Given the description of an element on the screen output the (x, y) to click on. 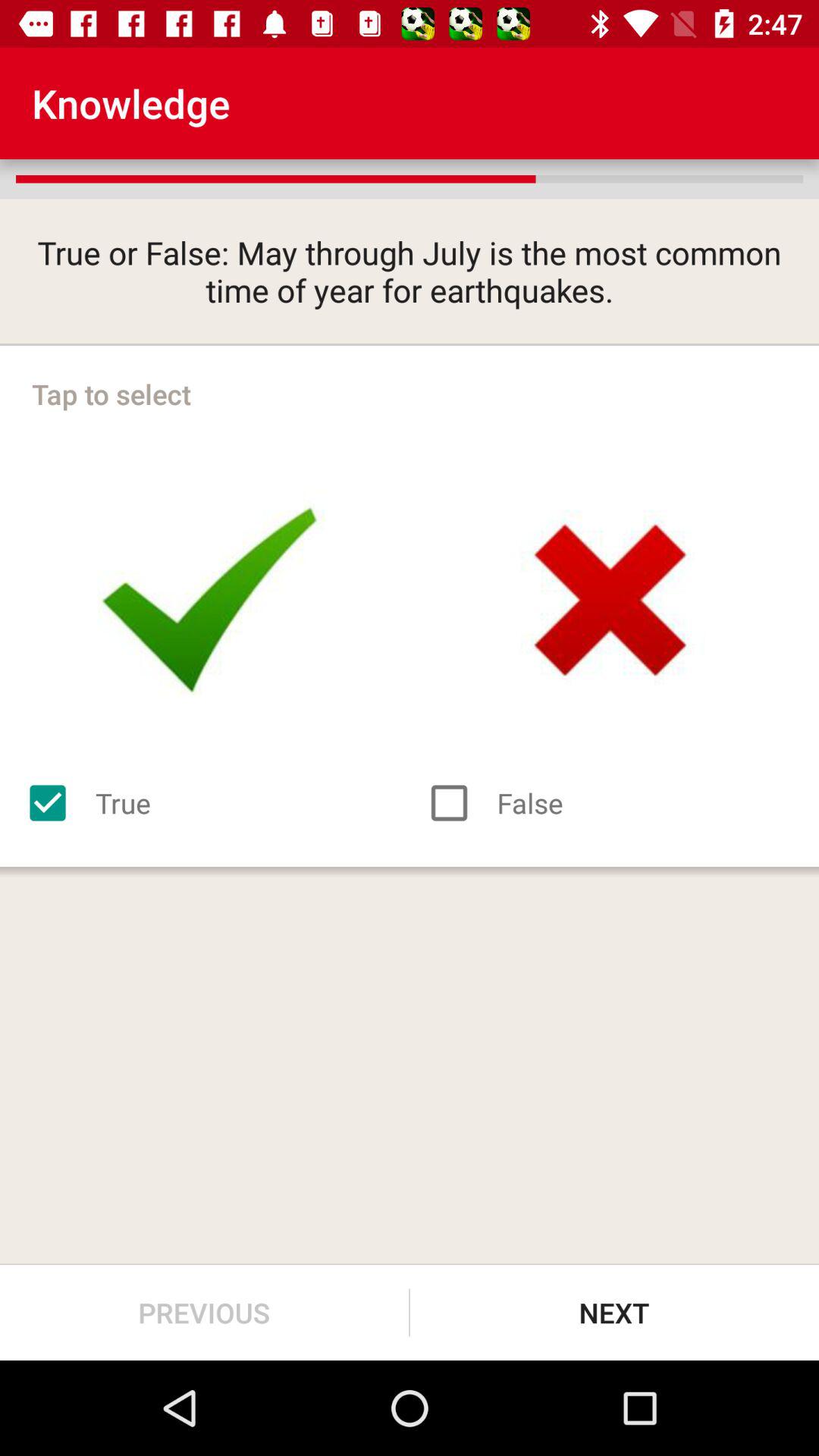
turn on next item (614, 1312)
